Given the description of an element on the screen output the (x, y) to click on. 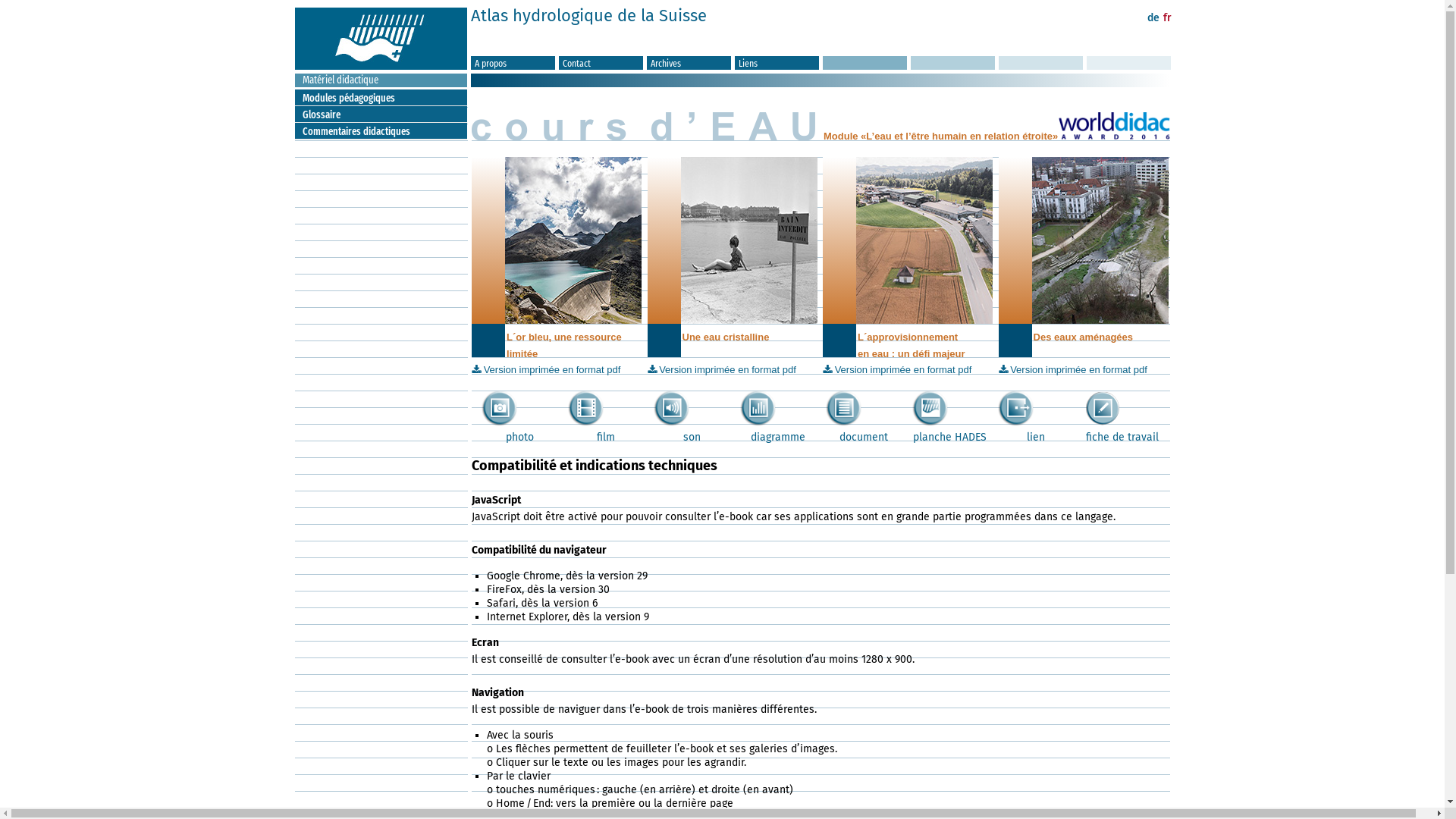
Contact Element type: text (600, 63)
bouton document Element type: hover (843, 408)
Liens Element type: text (776, 63)
Glossaire Element type: text (384, 115)
bouton film Element type: hover (585, 408)
fr Element type: text (1167, 17)
Archives Element type: text (688, 63)
bouton photo Element type: hover (499, 408)
Commentaires didactiques Element type: text (384, 131)
de Element type: text (1153, 17)
bouton son Element type: hover (671, 408)
bouton diagramme Element type: hover (757, 408)
bouton lien Element type: hover (1015, 408)
A propos Element type: text (512, 63)
bouton fiche de travail Element type: hover (1102, 408)
bouton planche HADES Element type: hover (929, 408)
